Given the description of an element on the screen output the (x, y) to click on. 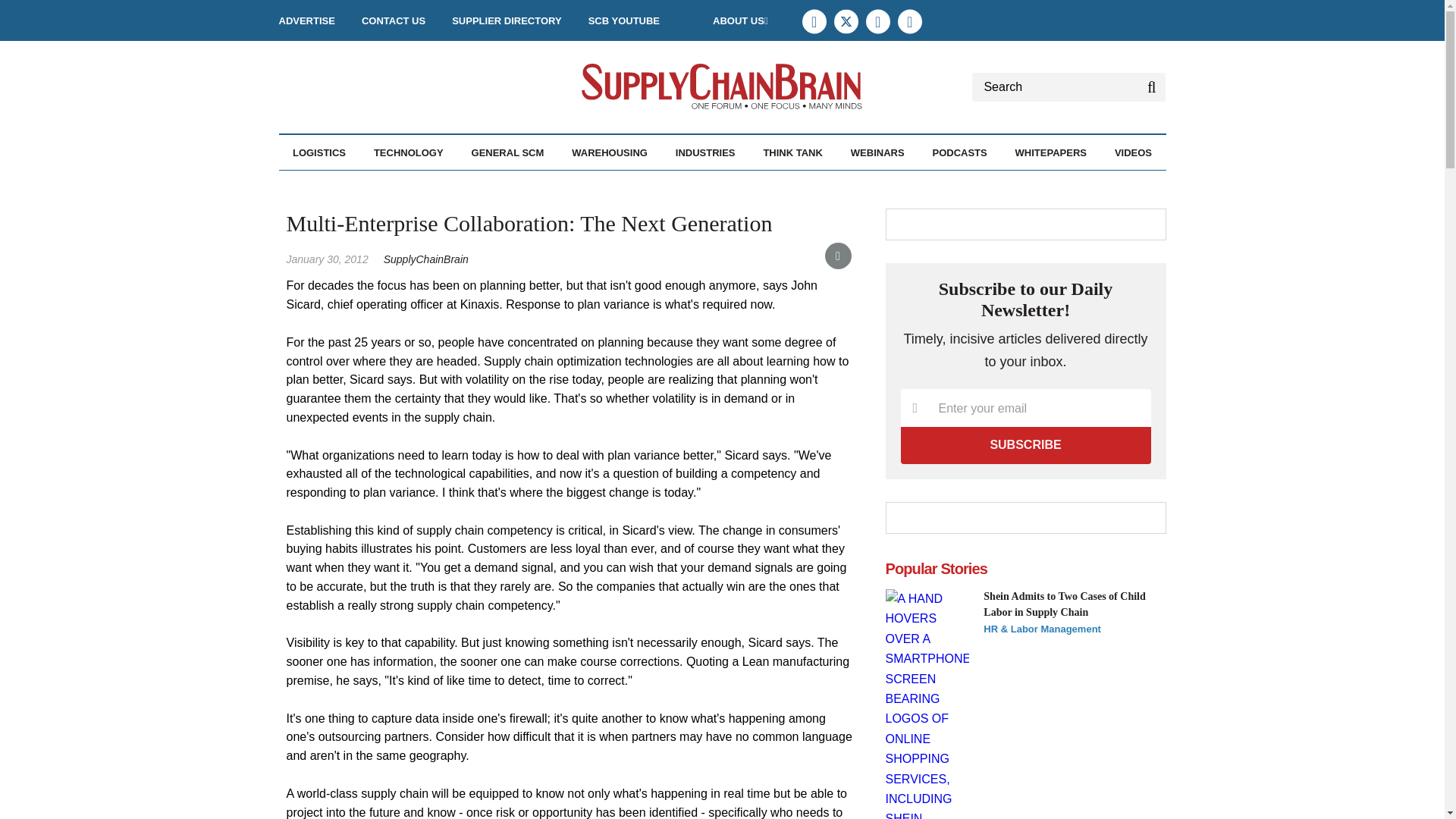
ABOUT US (740, 20)
All Technology (449, 184)
ADVERTISE (306, 20)
Logistics Outsourcing (404, 184)
Service Parts Management (413, 193)
SCB YOUTUBE (623, 20)
Reverse Logistics (411, 184)
All Logistics (375, 184)
LOGISTICS (319, 152)
Subscribe (1026, 444)
